Given the description of an element on the screen output the (x, y) to click on. 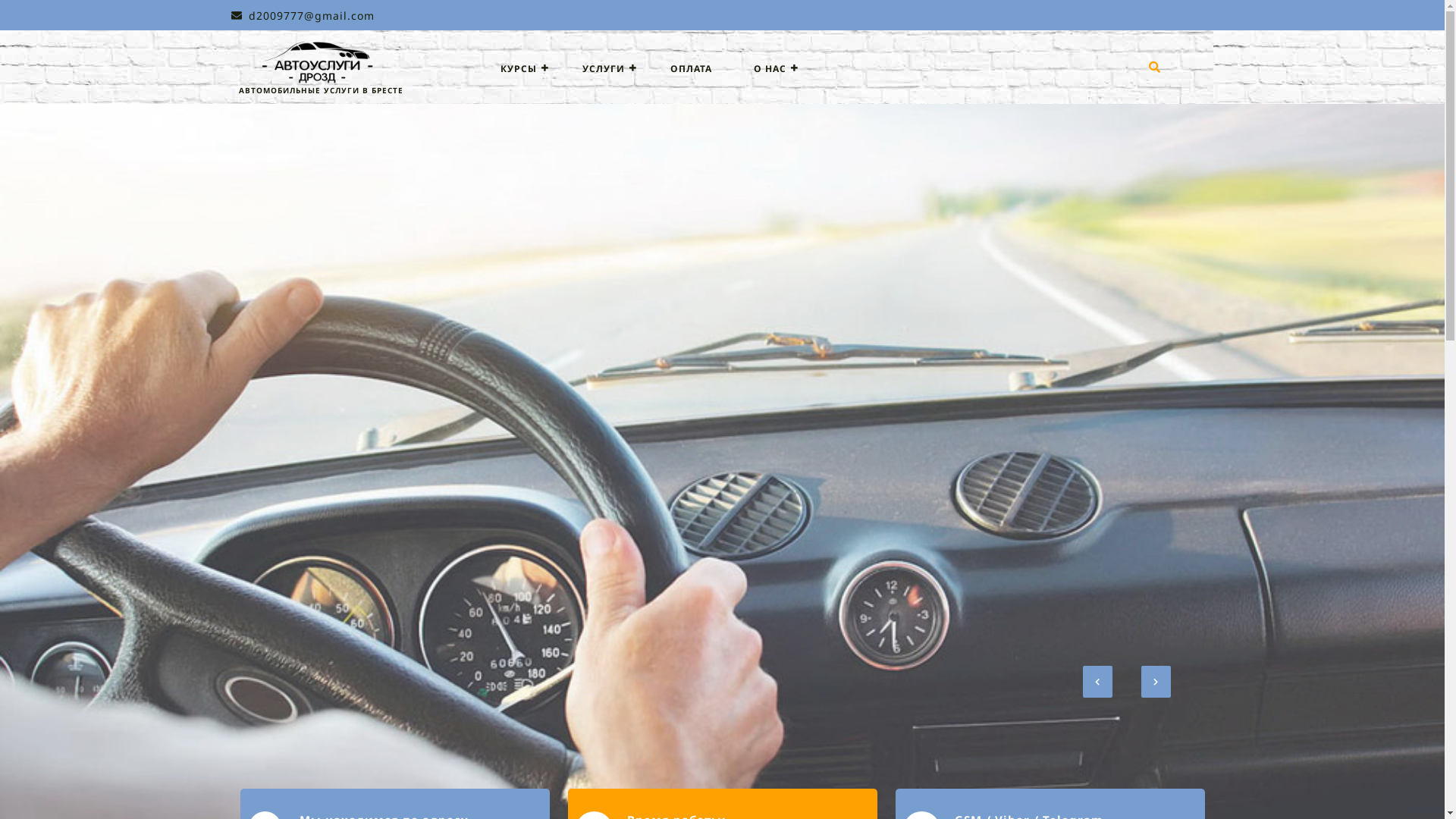
d2009777@gmail.com Element type: text (301, 15)
Search Element type: text (1157, 76)
